Given the description of an element on the screen output the (x, y) to click on. 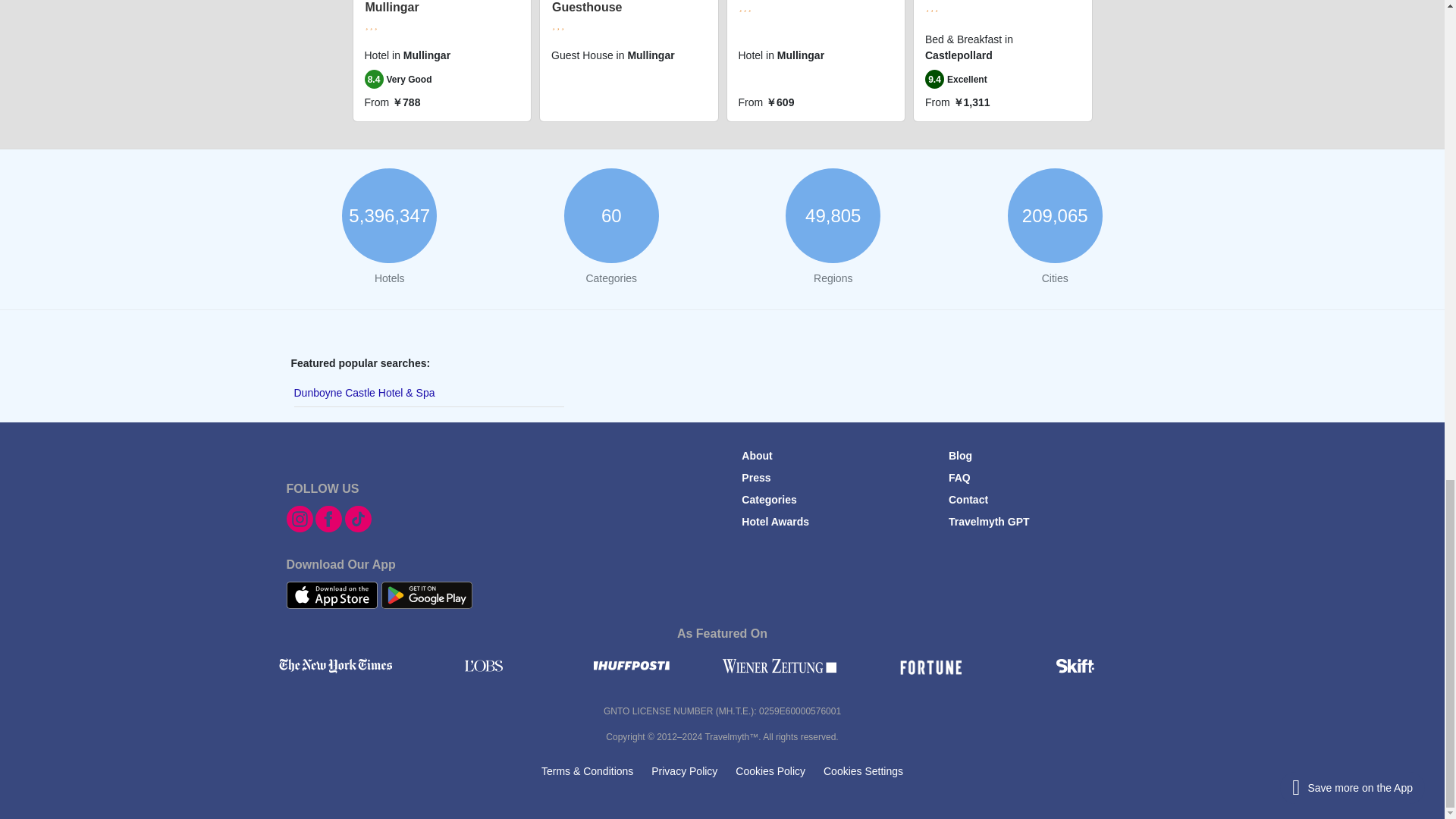
Categories (768, 499)
Mc Cormack's Guesthouse (592, 6)
Greville Arms Hotel Mullingar (421, 6)
Press (755, 477)
Greville Arms Hotel Mullingar (421, 6)
About (756, 455)
Mc Cormack's Guesthouse (592, 6)
